Given the description of an element on the screen output the (x, y) to click on. 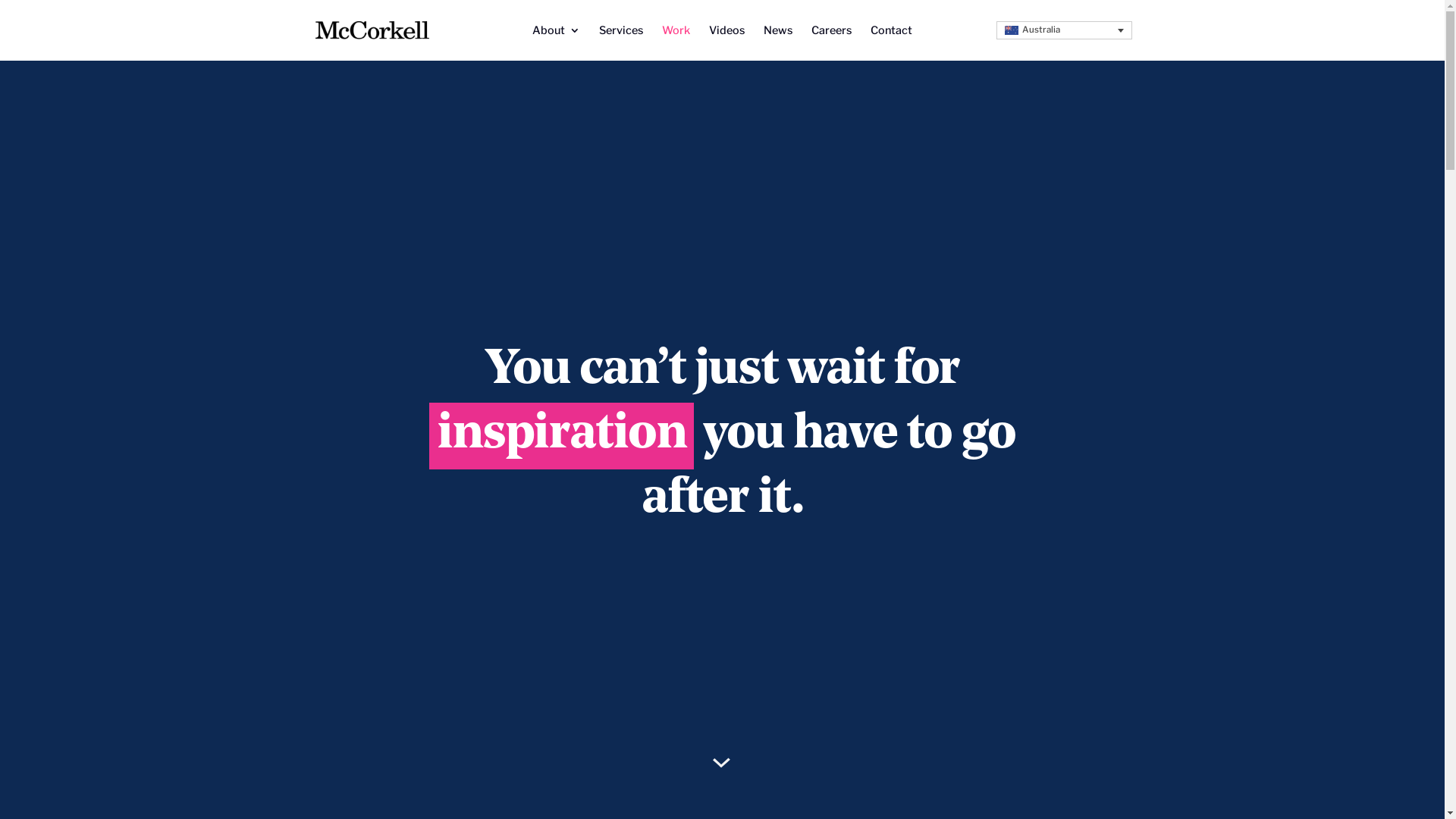
Careers Element type: text (831, 42)
News Element type: text (777, 42)
Australia Element type: text (1064, 30)
Contact Element type: text (891, 42)
About Element type: text (556, 42)
Videos Element type: text (726, 42)
Australia Element type: hover (1011, 29)
Work Element type: text (676, 42)
Submit Element type: text (541, 498)
Services Element type: text (621, 42)
